Given the description of an element on the screen output the (x, y) to click on. 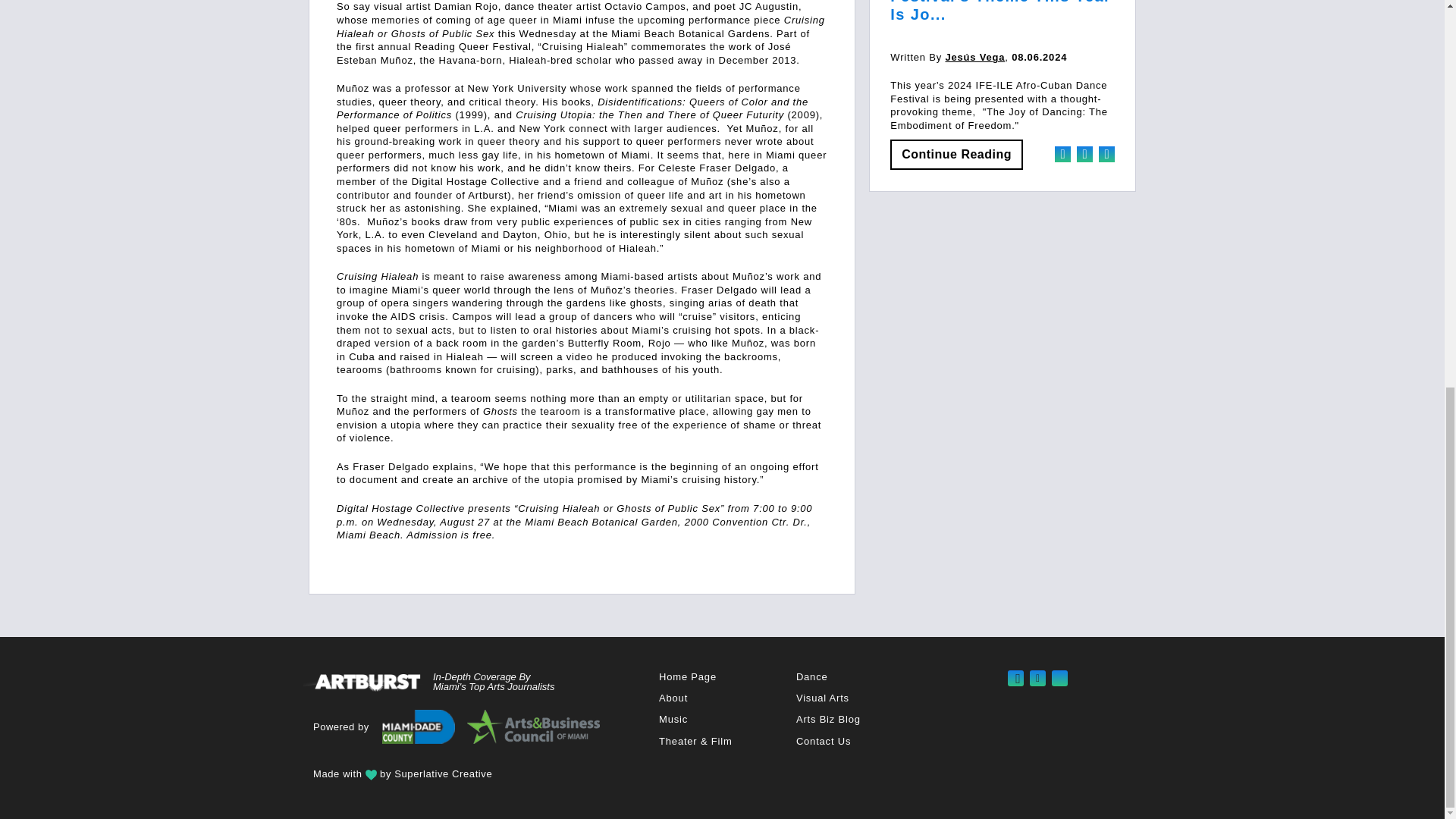
Contact Us (823, 740)
Home Page (687, 676)
Superlative Creative (443, 773)
Visual Arts (822, 697)
Dance (812, 676)
Arts Biz Blog (828, 718)
Continue Reading (955, 154)
Music (673, 718)
About (673, 697)
